Given the description of an element on the screen output the (x, y) to click on. 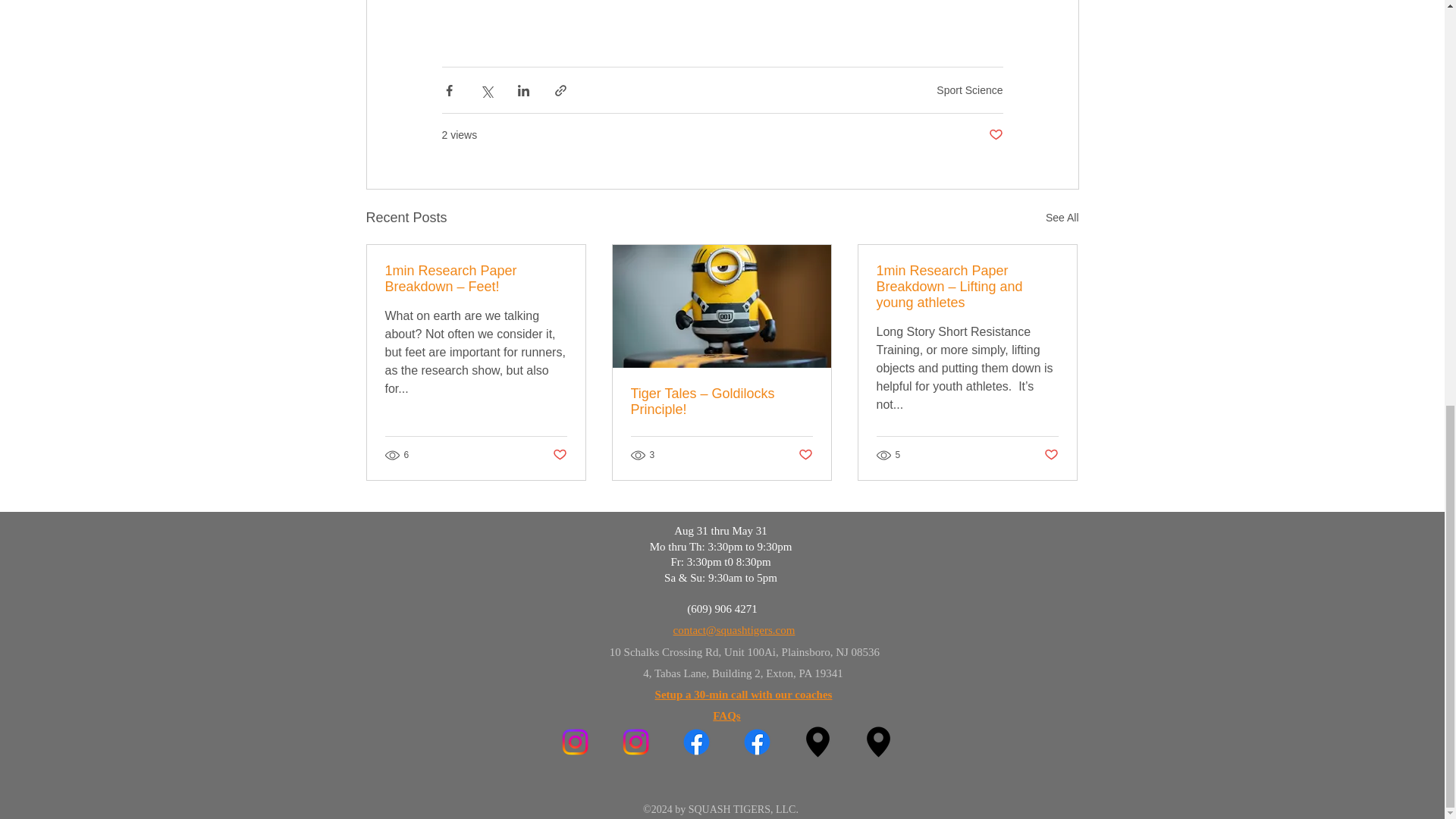
Post not marked as liked (1050, 455)
Post not marked as liked (804, 455)
See All (1061, 218)
Post not marked as liked (995, 135)
Sport Science (969, 89)
Post not marked as liked (558, 455)
